Given the description of an element on the screen output the (x, y) to click on. 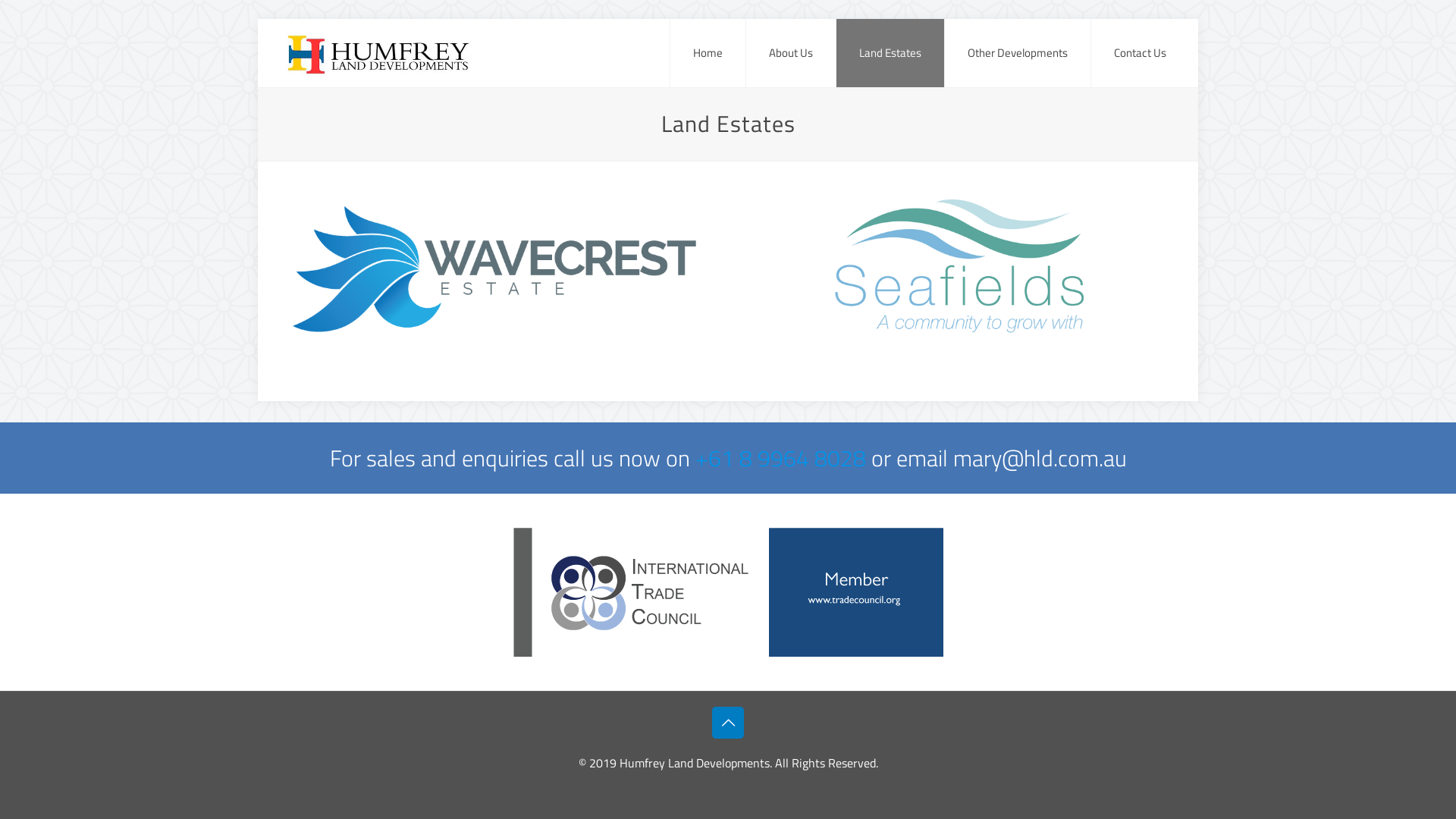
+61 8 9964 8028 Element type: text (782, 457)
Contact Us Element type: text (1140, 52)
Other Developments Element type: text (1017, 52)
Home Element type: text (707, 52)
Land Estates Element type: text (890, 52)
About Us Element type: text (791, 52)
Humfrey Land Developments Element type: hover (378, 52)
